Given the description of an element on the screen output the (x, y) to click on. 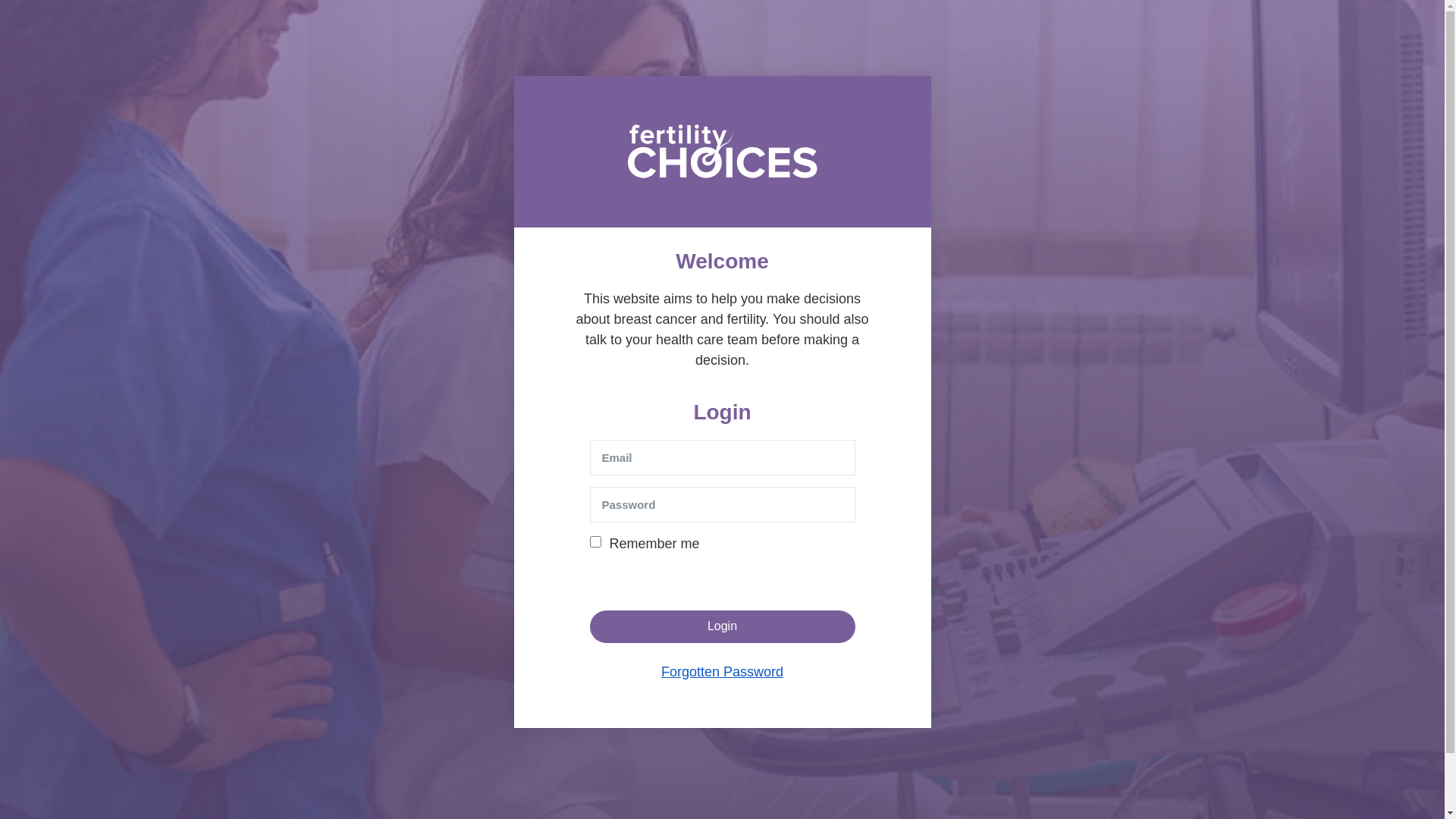
Fertility Options Element type: text (617, 50)
More Resources Element type: text (683, 775)
Breast Cancer and Fertility Element type: text (481, 50)
Contact Us Element type: text (895, 770)
Breast Cancer and Fertility Element type: text (476, 755)
More Resources Element type: text (972, 50)
About Element type: text (807, 770)
Light Creative Element type: text (1158, 776)
Page 1 Created with Sketch. Element type: text (321, 777)
Authors Element type: text (915, 755)
Results Element type: text (1057, 22)
Personal stories Element type: text (576, 775)
Fertility Options Element type: text (611, 755)
Acknowledgements Element type: text (818, 755)
Personal stories Element type: text (857, 50)
Login Element type: text (722, 626)
My Account Element type: text (1119, 22)
Logout Element type: text (1176, 22)
